Given the description of an element on the screen output the (x, y) to click on. 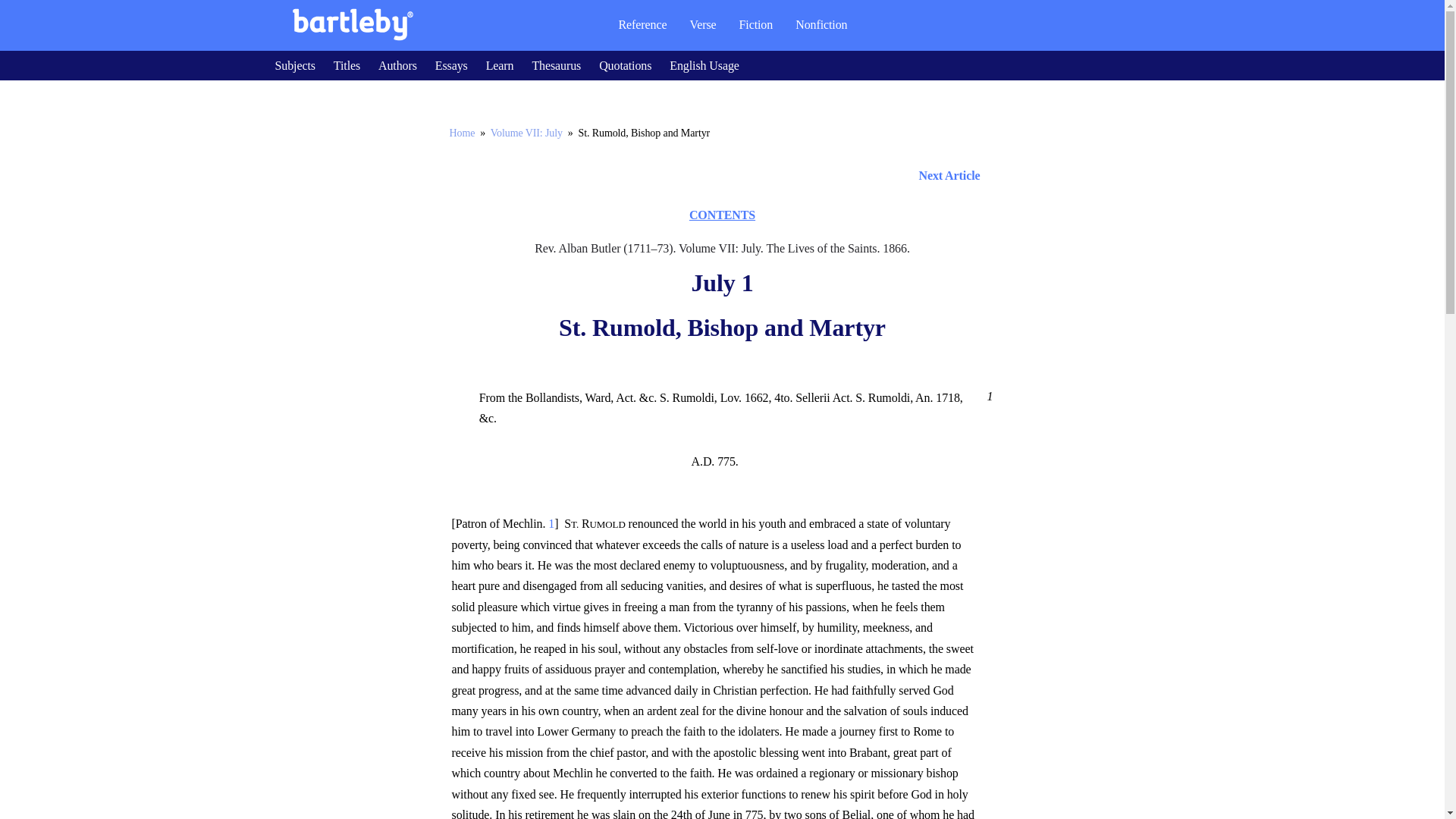
  1 (986, 395)
English Usage (704, 65)
Quotations (624, 65)
Authors (397, 65)
Learn (499, 65)
CONTENTS (721, 214)
Essays (451, 65)
Subjects (294, 65)
Titles (346, 65)
Next Article (722, 175)
